Given the description of an element on the screen output the (x, y) to click on. 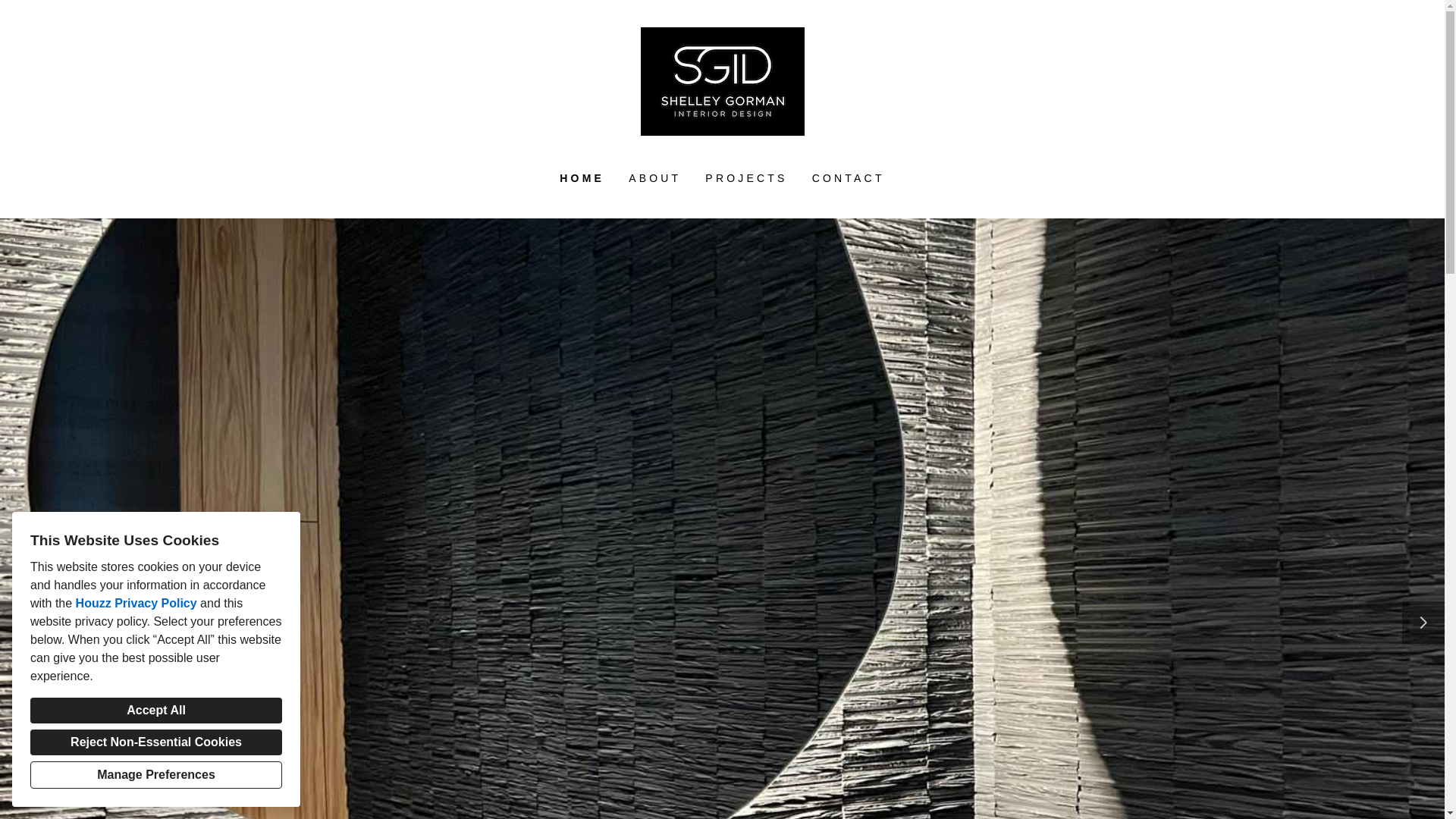
Accept All (156, 710)
Open a dialog to customize your preferences (156, 774)
Reject Non-Essential Cookies (156, 742)
Houzz Privacy Policy (135, 603)
Skip to main content (12, 12)
ABOUT (654, 178)
CONTACT (847, 178)
PROJECTS (746, 178)
HOME (581, 178)
Manage Preferences (156, 774)
